Given the description of an element on the screen output the (x, y) to click on. 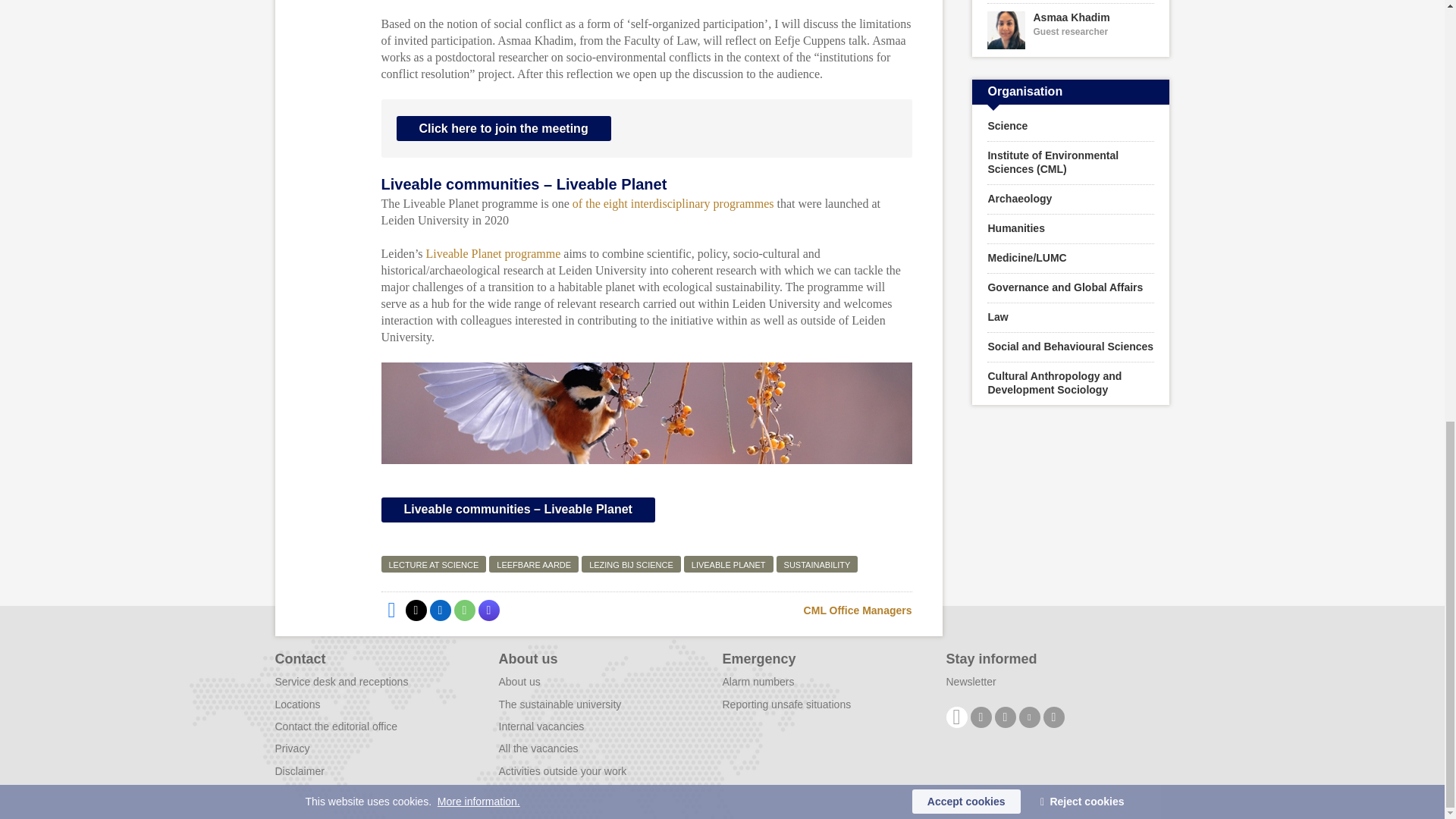
Click here to join the meeting (503, 128)
Share on Facebook (390, 609)
of the eight interdisciplinary programmes (673, 203)
Share on LinkedIn (439, 609)
LEZING BIJ SCIENCE (630, 564)
Share by WhatsApp (463, 609)
LEEFBARE AARDE (533, 564)
Liveable Planet programme (493, 253)
LECTURE AT SCIENCE (433, 564)
Share on X (415, 609)
SUSTAINABILITY (817, 564)
LIVEABLE PLANET (728, 564)
Share by Mastodon (488, 609)
